Given the description of an element on the screen output the (x, y) to click on. 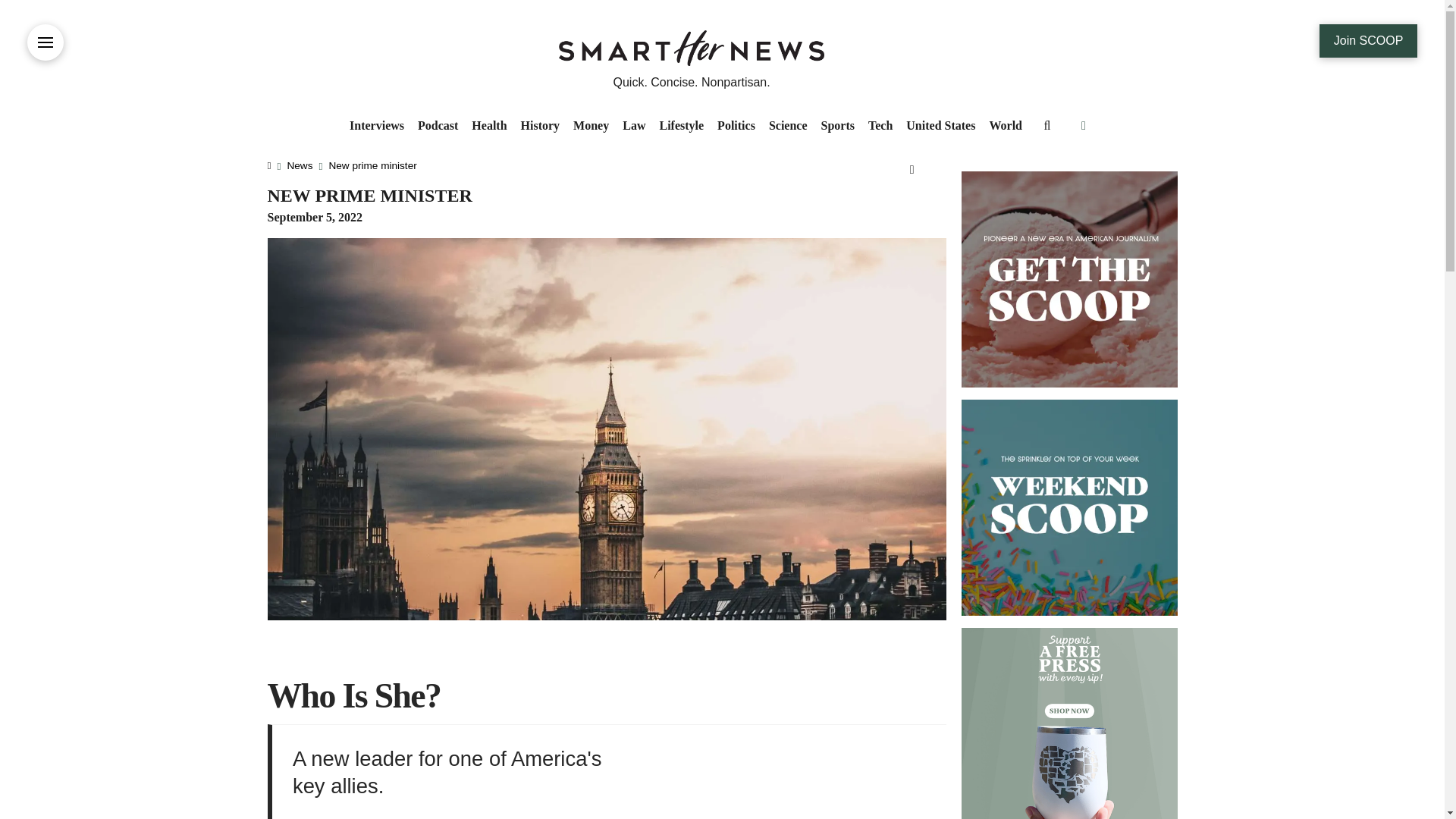
Money (590, 125)
Lifestyle (681, 125)
World (1005, 125)
Politics (735, 125)
Join SCOOP (1367, 40)
Science (787, 125)
You Are Here (372, 165)
Health (488, 125)
Podcast (437, 125)
Law (633, 125)
New prime minister (372, 165)
News (299, 165)
Sports (837, 125)
History (540, 125)
United States (940, 125)
